Given the description of an element on the screen output the (x, y) to click on. 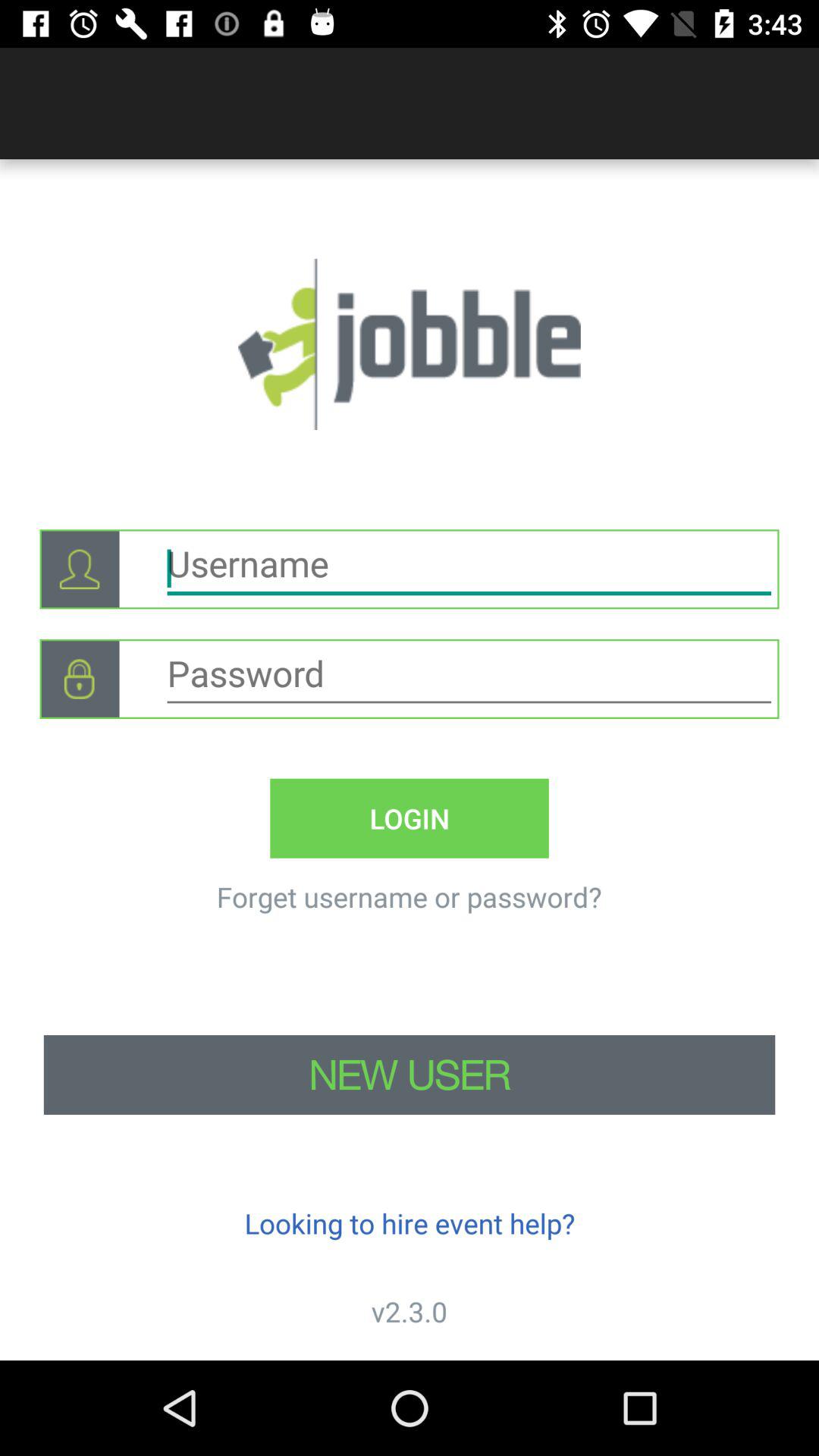
click the login icon (409, 818)
